Given the description of an element on the screen output the (x, y) to click on. 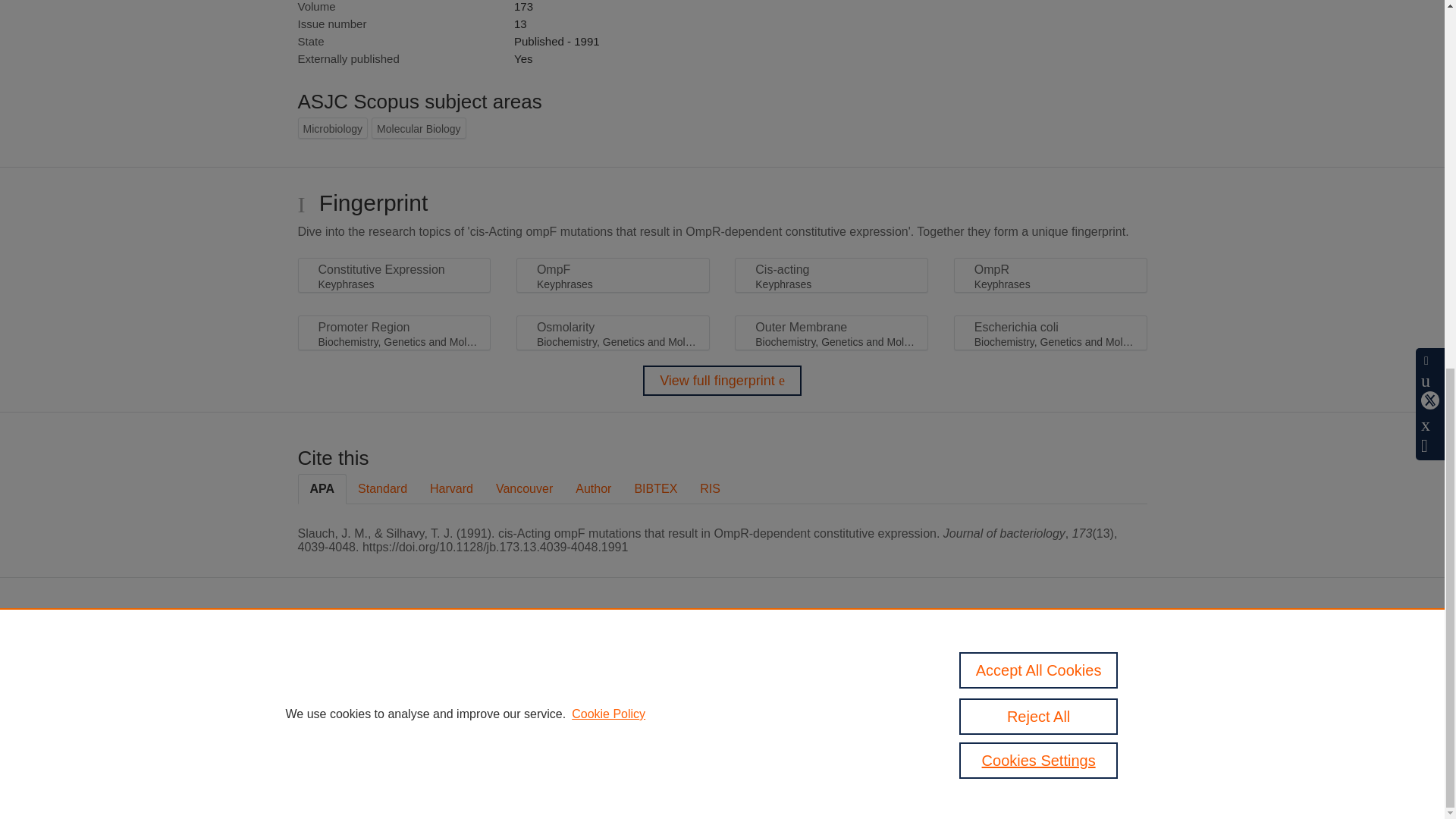
Scopus (652, 653)
Pure (620, 653)
View full fingerprint (722, 380)
